Given the description of an element on the screen output the (x, y) to click on. 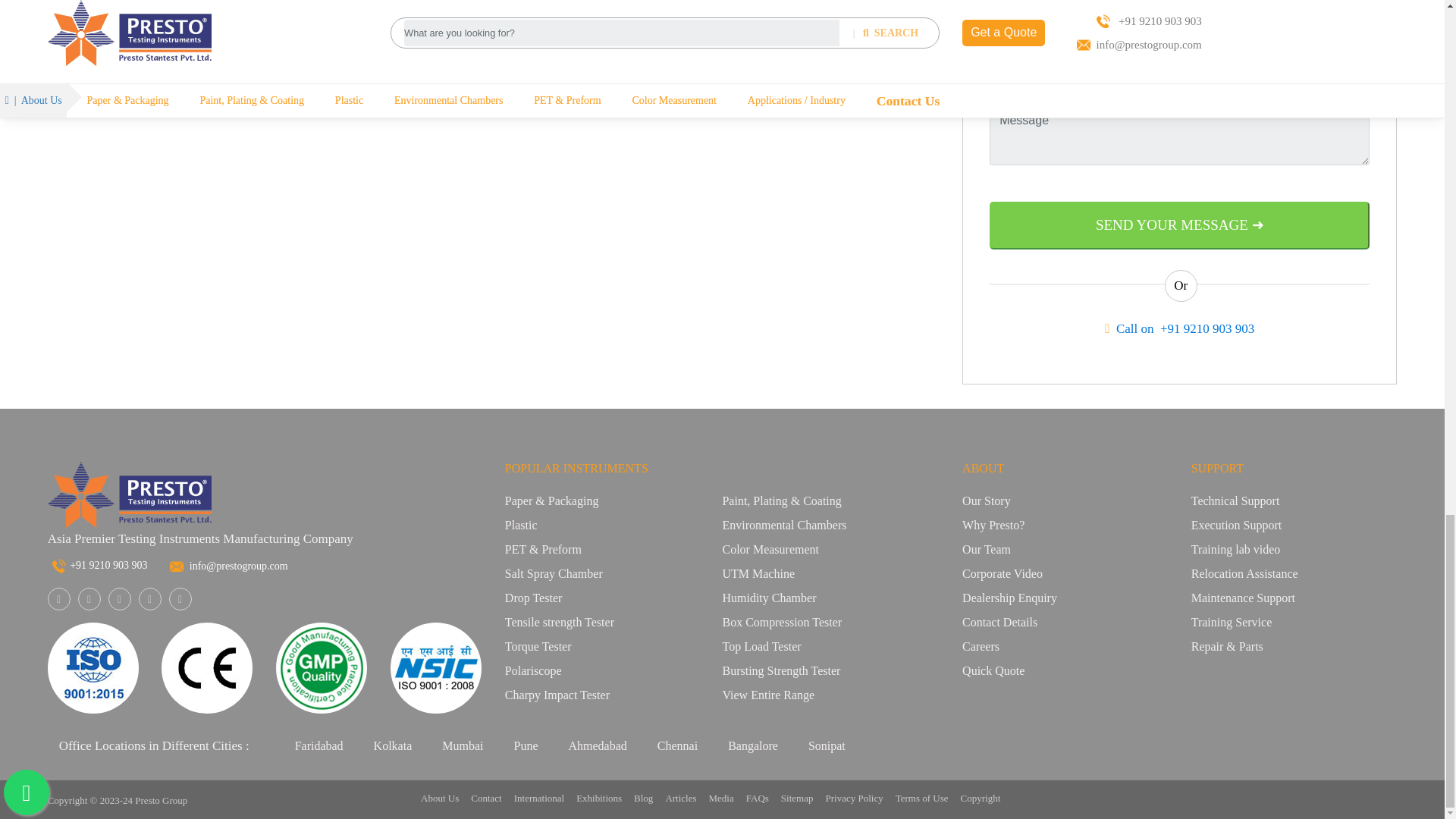
youtube (179, 599)
facebook (58, 599)
